Given the description of an element on the screen output the (x, y) to click on. 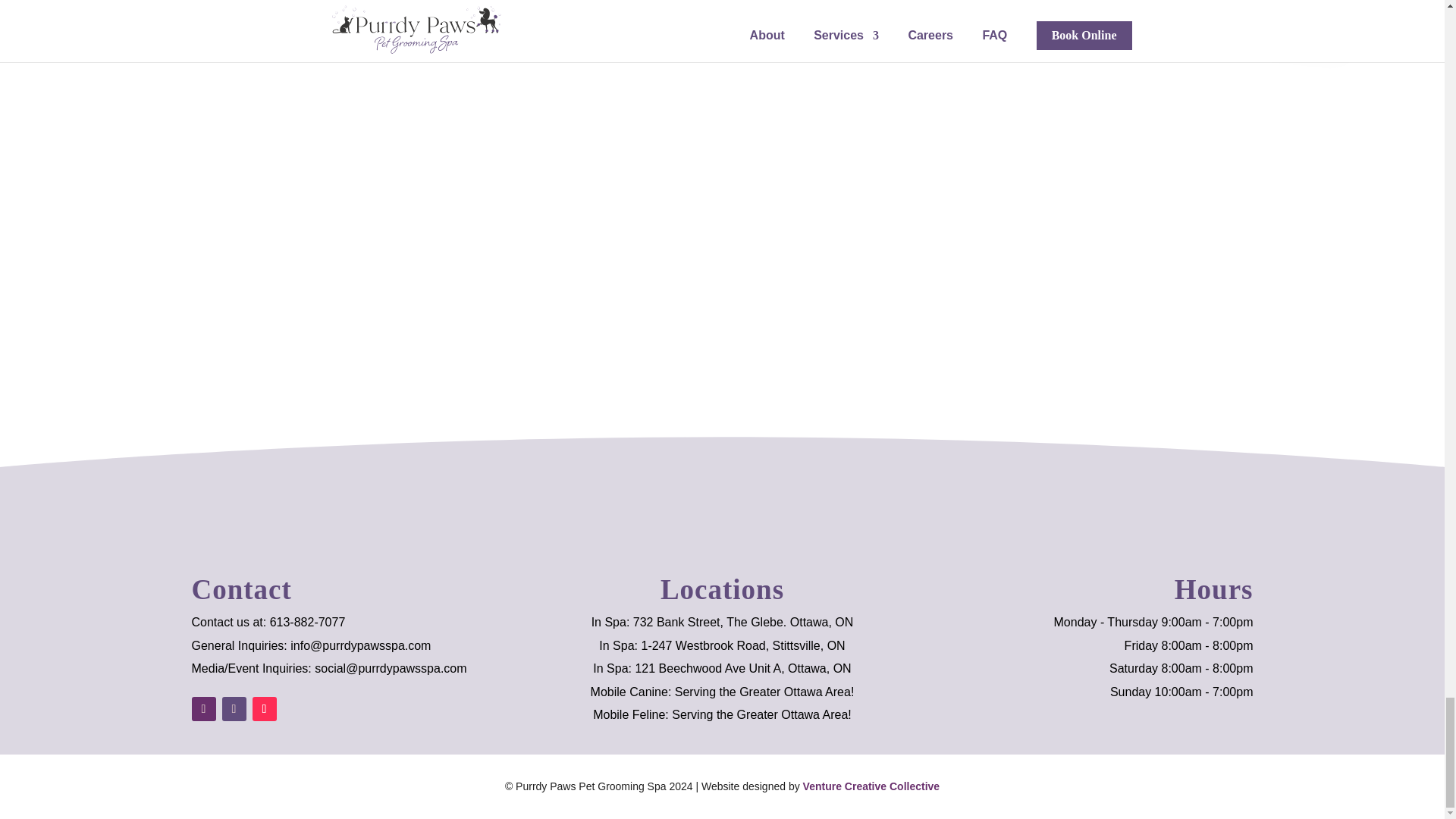
Follow on Instagram (233, 708)
Follow on Facebook (202, 708)
Follow on TikTok (263, 708)
